Given the description of an element on the screen output the (x, y) to click on. 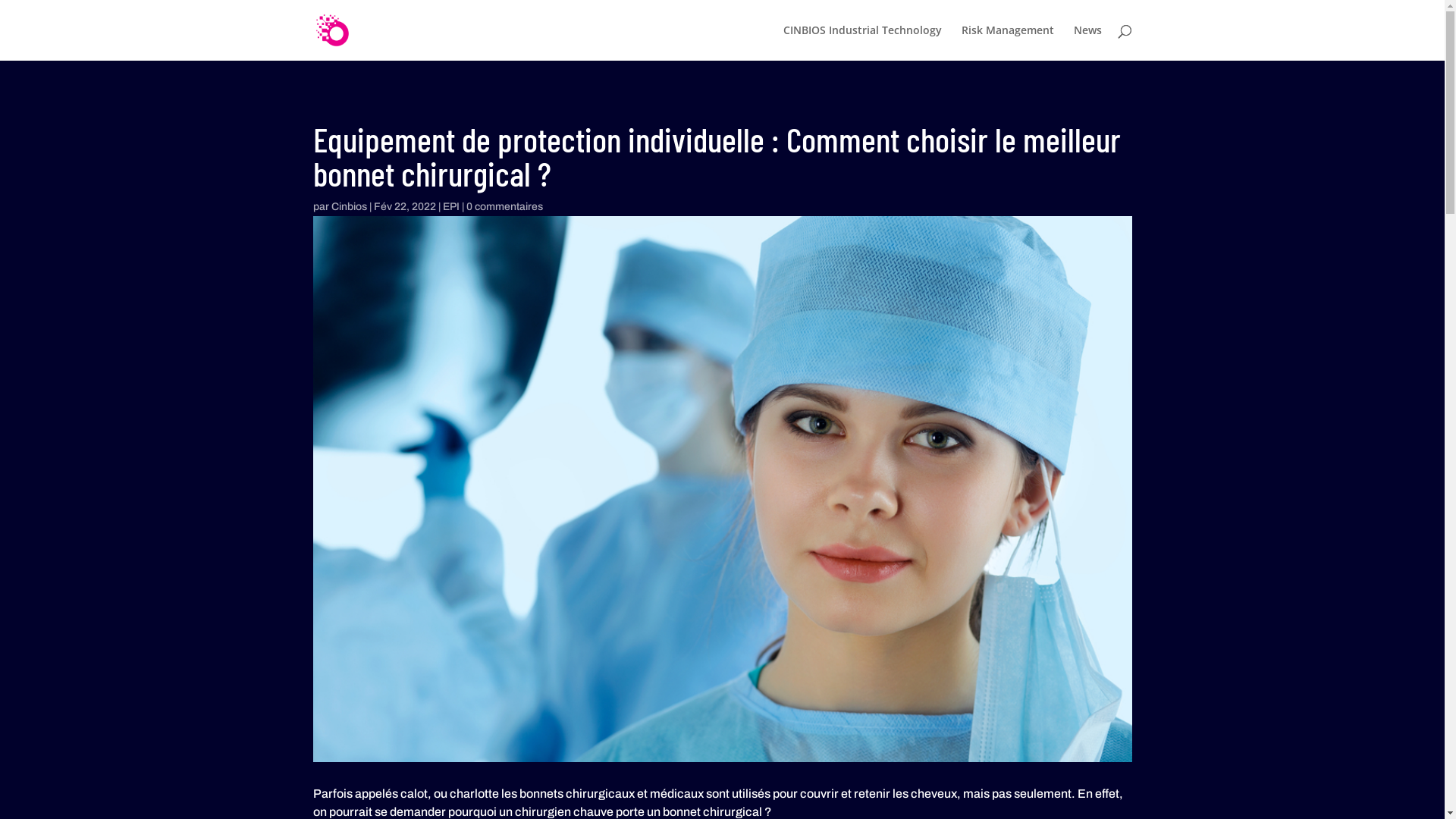
CINBIOS Industrial Technology Element type: text (861, 42)
Cinbios Element type: text (348, 206)
News Element type: text (1087, 42)
0 commentaires Element type: text (503, 206)
EPI Element type: text (450, 206)
Risk Management Element type: text (1007, 42)
